Given the description of an element on the screen output the (x, y) to click on. 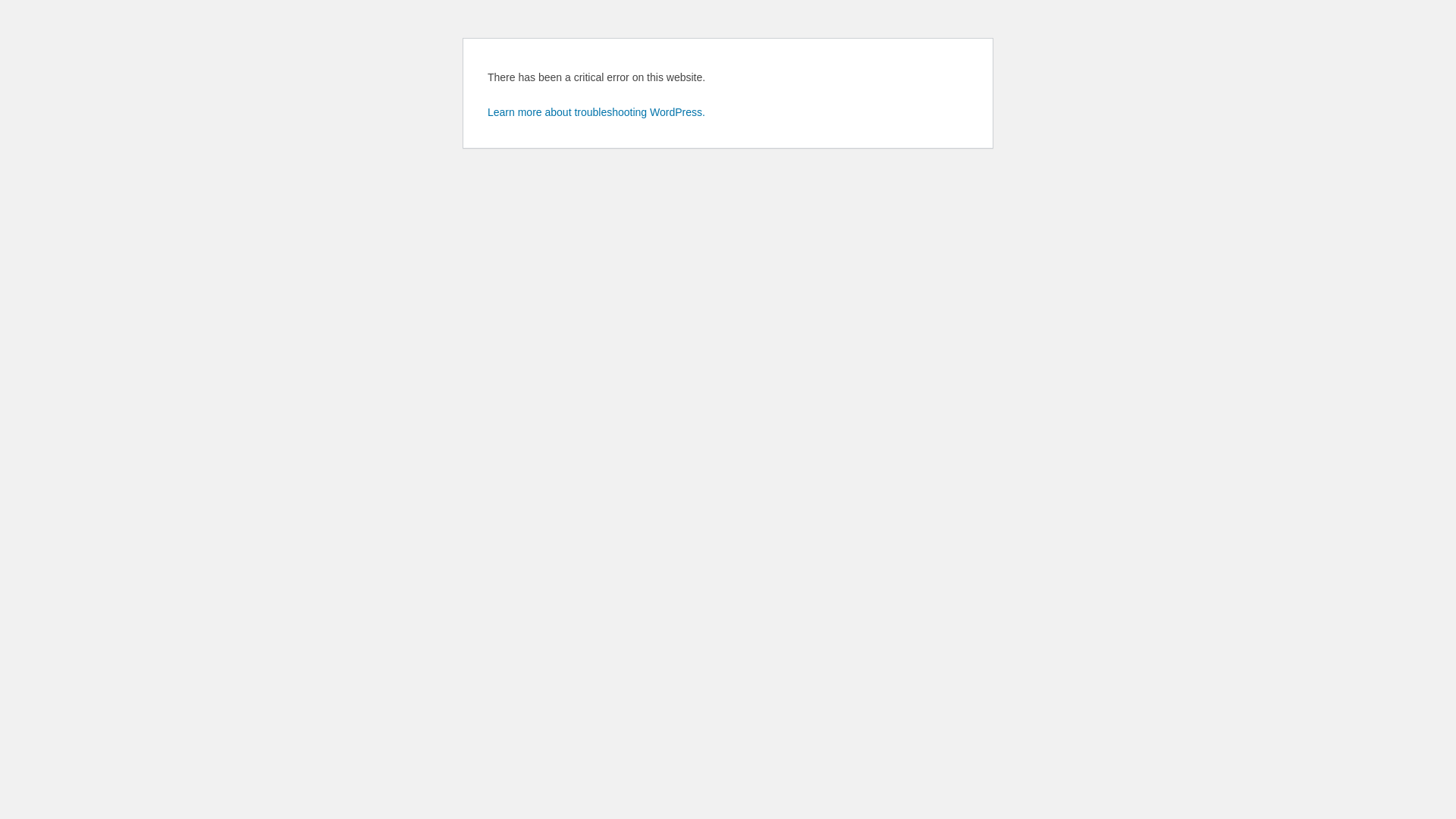
Learn more about troubleshooting WordPress. Element type: text (596, 112)
